Given the description of an element on the screen output the (x, y) to click on. 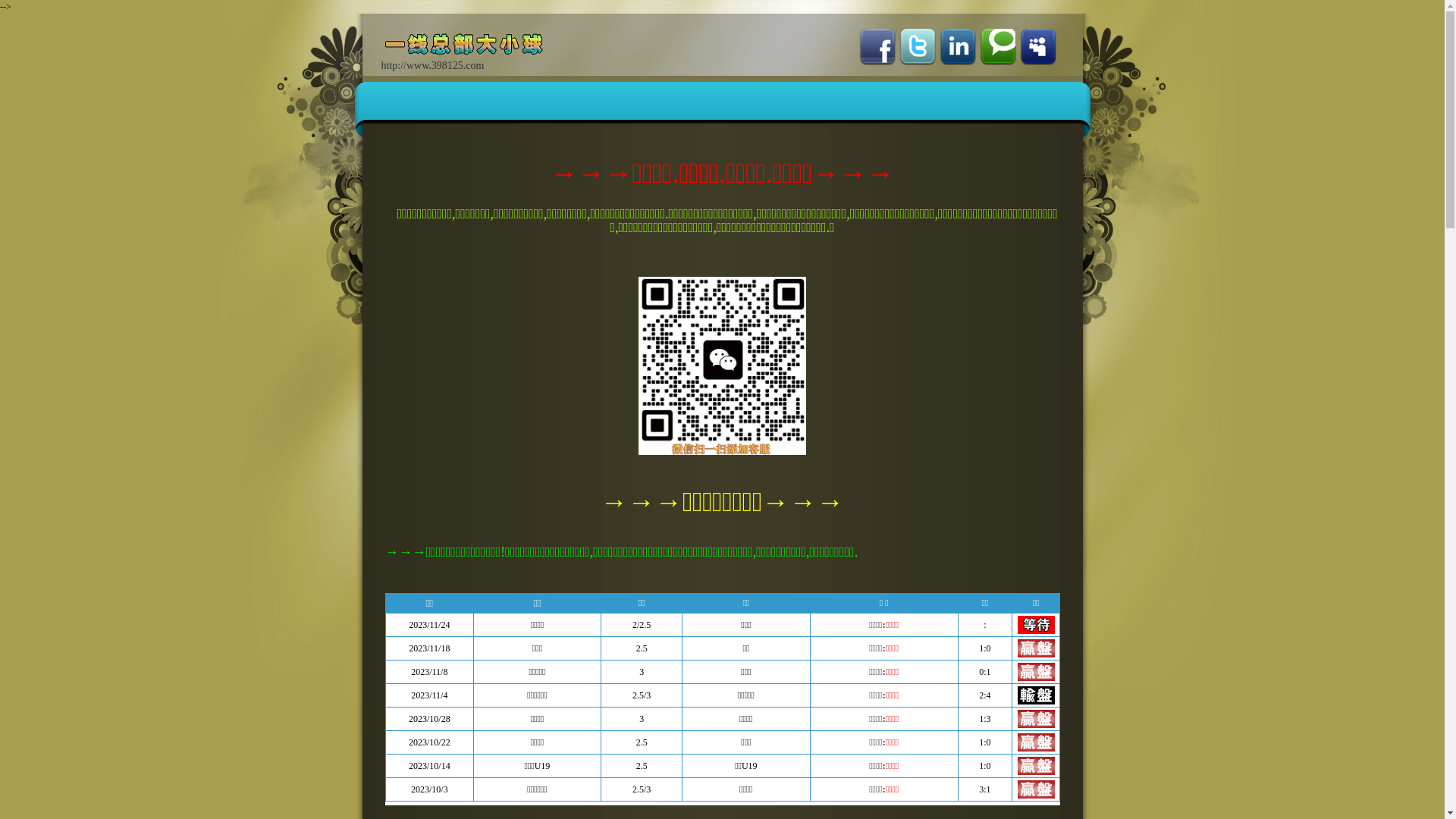
http://www.398125.com Element type: text (472, 55)
